Given the description of an element on the screen output the (x, y) to click on. 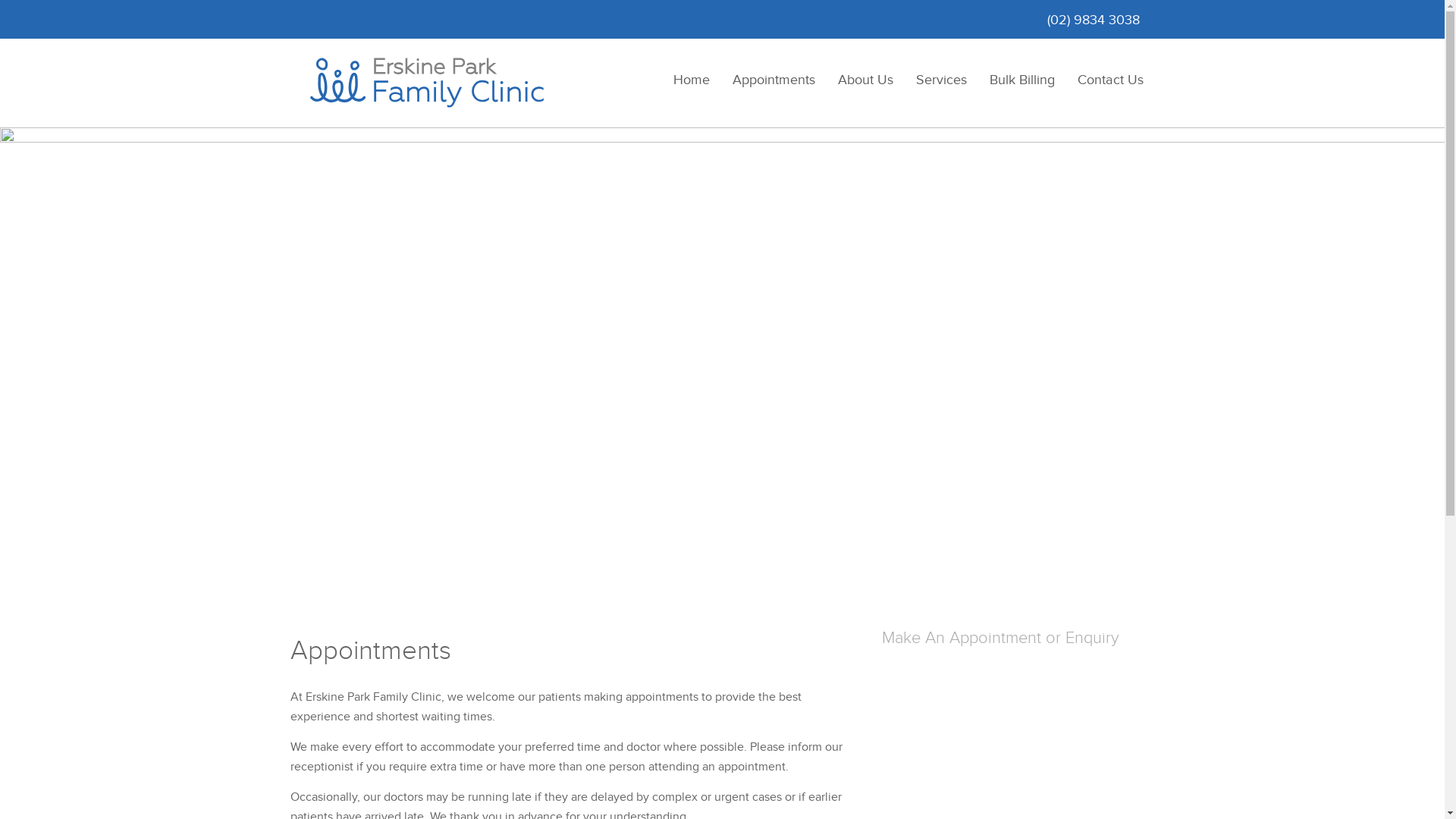
About Us Element type: text (865, 79)
Appointments Element type: text (772, 79)
Home Element type: text (690, 79)
Services Element type: text (940, 79)
(02) 9834 3038 Element type: text (1092, 19)
Bulk Billing Element type: text (1022, 79)
Contact Us Element type: text (1110, 79)
